Given the description of an element on the screen output the (x, y) to click on. 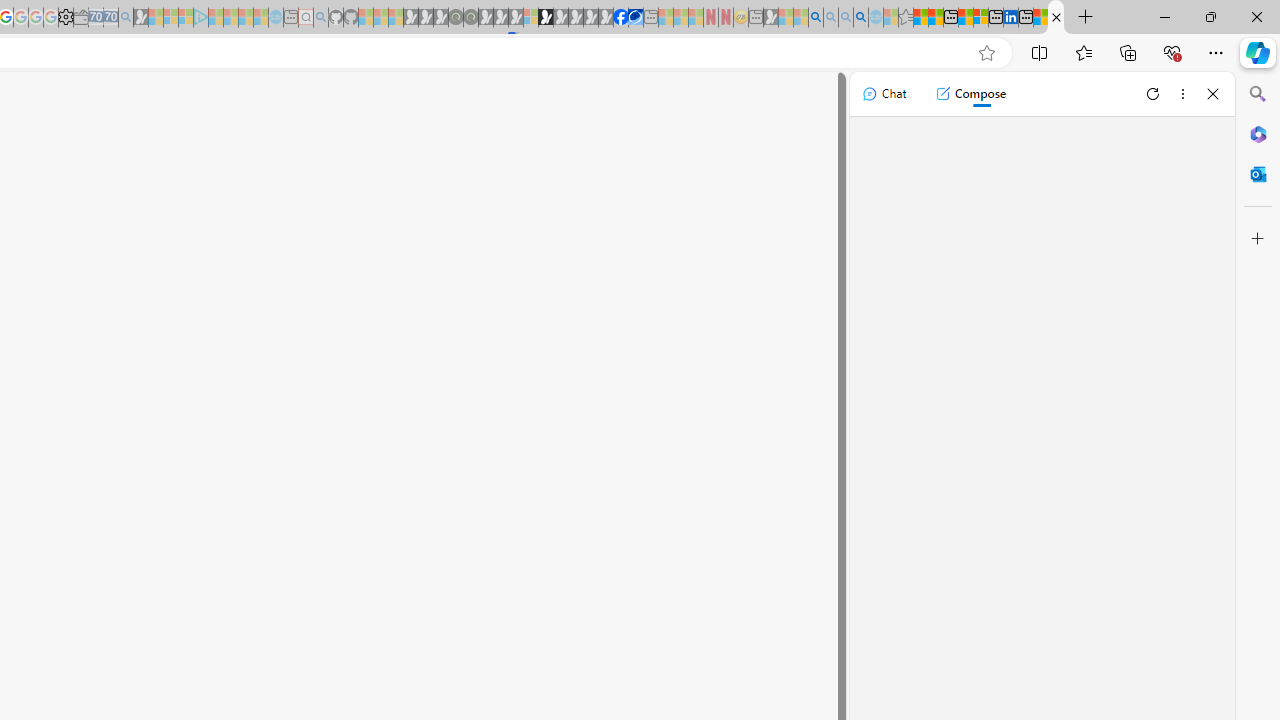
Google Chrome Internet Browser Download - Search Images (860, 17)
Sign in to your account - Sleeping (530, 17)
LinkedIn (1010, 17)
Bing Real Estate - Home sales and rental listings - Sleeping (126, 17)
